Given the description of an element on the screen output the (x, y) to click on. 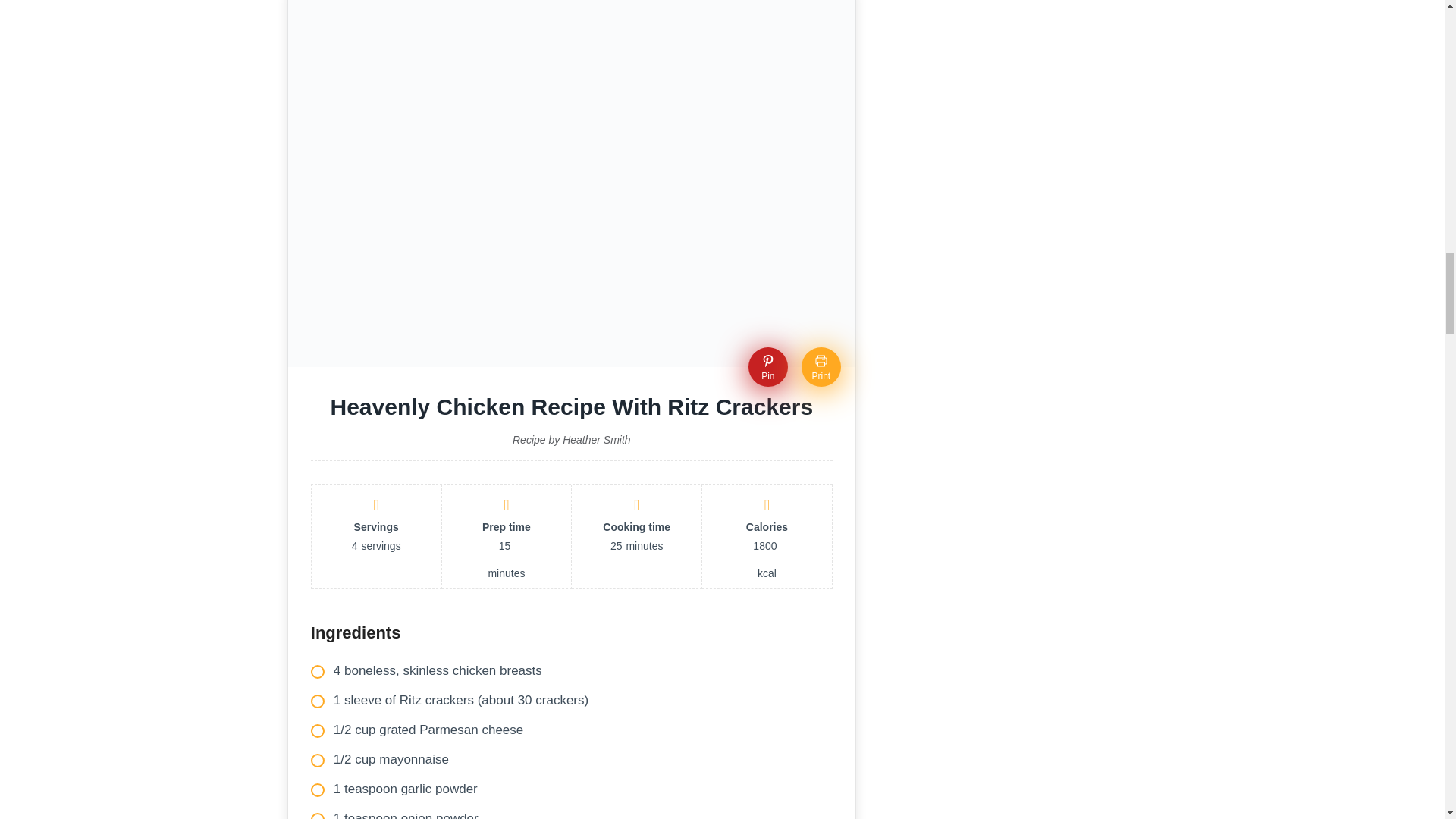
Pin (767, 366)
Print directions... (821, 366)
Print (821, 366)
